Given the description of an element on the screen output the (x, y) to click on. 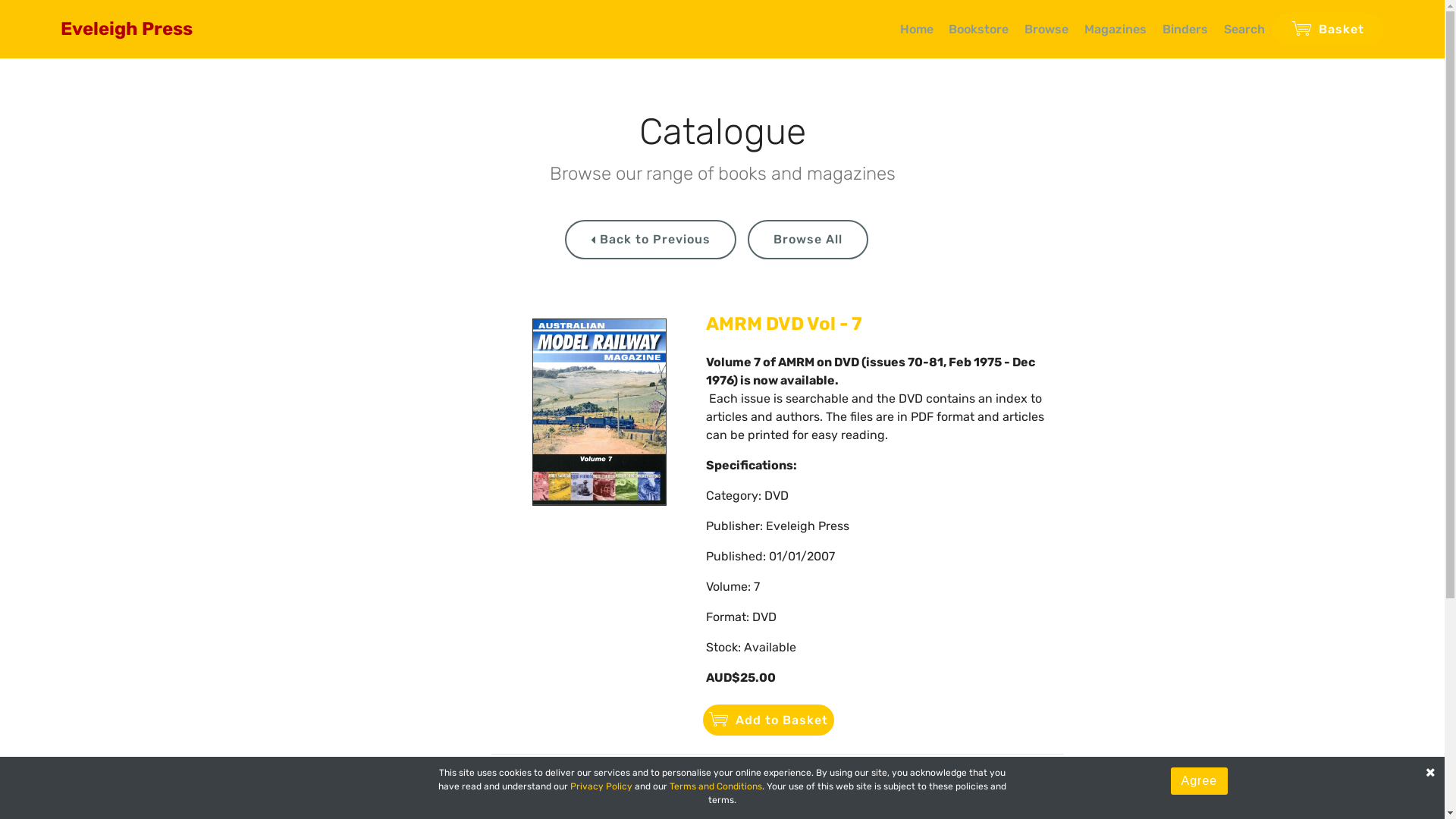
Search Element type: text (1243, 28)
Agree Element type: text (1199, 780)
AMRM DVD Vol - 7 Element type: text (784, 323)
Home Element type: text (916, 28)
 Back to Previous Element type: text (650, 239)
Product image Element type: hover (599, 411)
Browse Element type: text (1046, 28)
Eveleigh Press Element type: text (138, 28)
Magazines Element type: text (1115, 28)
Bookstore Element type: text (978, 28)
Binders Element type: text (1185, 28)
Privacy Policy Element type: text (601, 786)
Add to Basket Element type: text (768, 720)
Basket Element type: text (1327, 28)
Terms and Conditions Element type: text (715, 786)
Browse All Element type: text (807, 239)
